Given the description of an element on the screen output the (x, y) to click on. 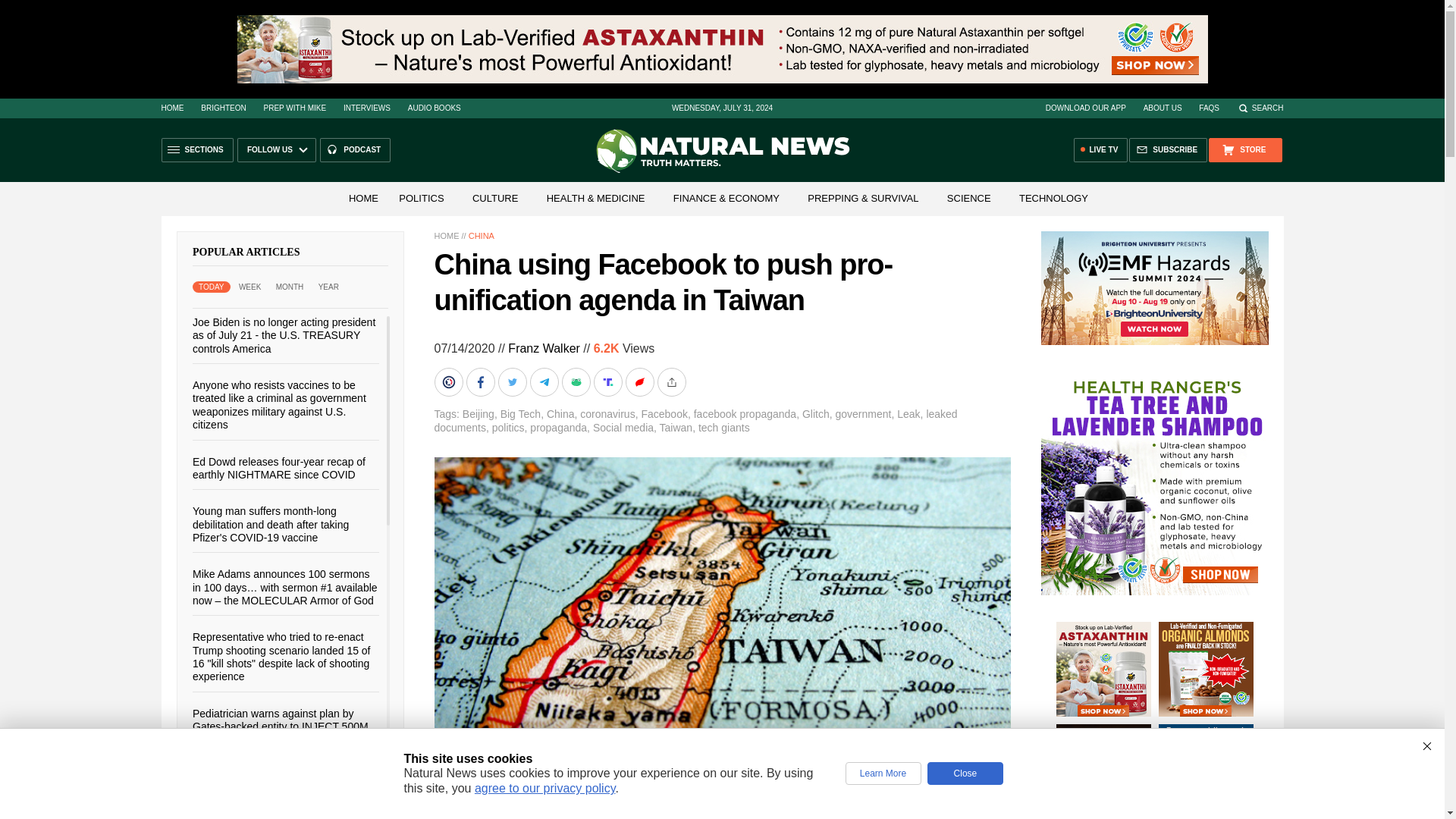
Share on Truth.Social (608, 381)
Share on GAB (576, 381)
More Share Options (672, 381)
SCIENCE (968, 197)
HOME (171, 108)
CULTURE (495, 197)
BRIGHTEON (223, 108)
AUDIO BOOKS (434, 108)
Share on Twitter (513, 381)
LIVE TV (1101, 150)
SUBSCRIBE (1168, 150)
PREP WITH MIKE (294, 108)
